Given the description of an element on the screen output the (x, y) to click on. 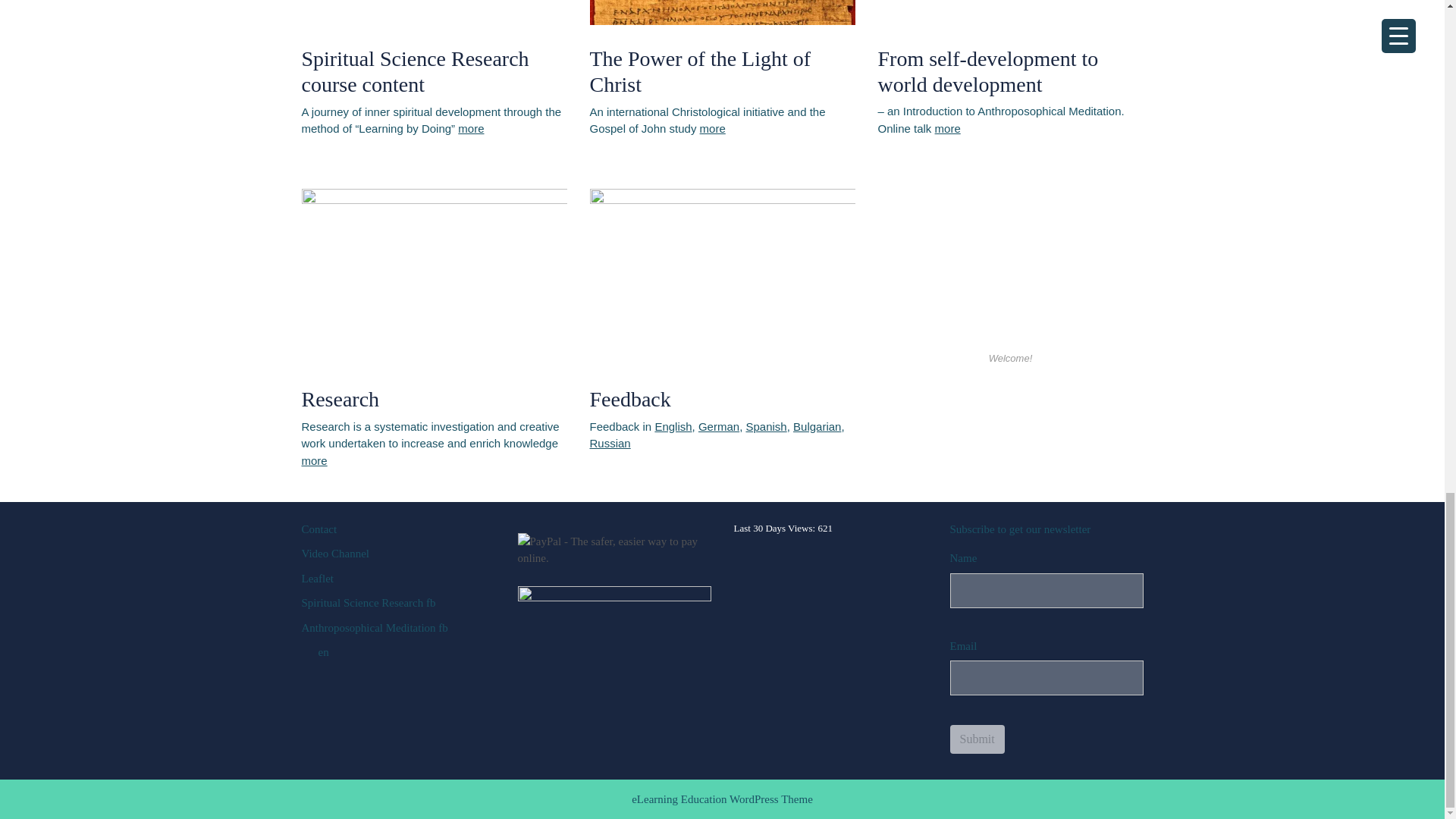
A warm welcome to Spiritual Science Research! (1009, 265)
Submit (976, 738)
